Given the description of an element on the screen output the (x, y) to click on. 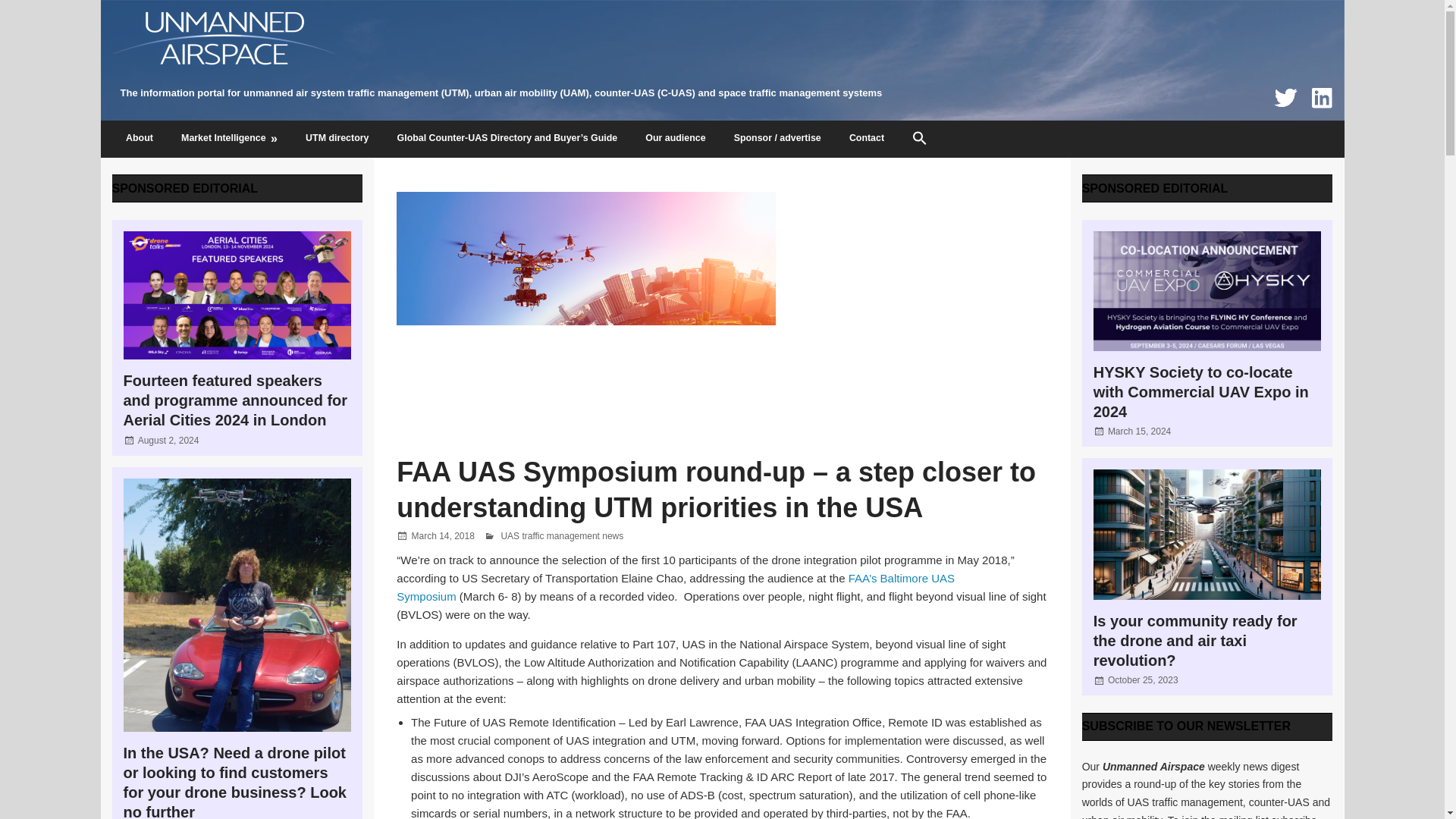
Our audience (675, 138)
Contact (866, 138)
August 2, 2024 (168, 439)
View all posts from category Sponsored editorial 2 (1154, 187)
UAS traffic management news (561, 535)
Philip Butterworth-Hayes (549, 535)
UTM directory (338, 138)
9:00 am (1142, 679)
1:16 pm (1139, 430)
View all posts by Philip Butterworth-Hayes (549, 535)
View all posts from category Sponsored editorial 1 (185, 187)
About (139, 138)
2:01 pm (168, 439)
